Given the description of an element on the screen output the (x, y) to click on. 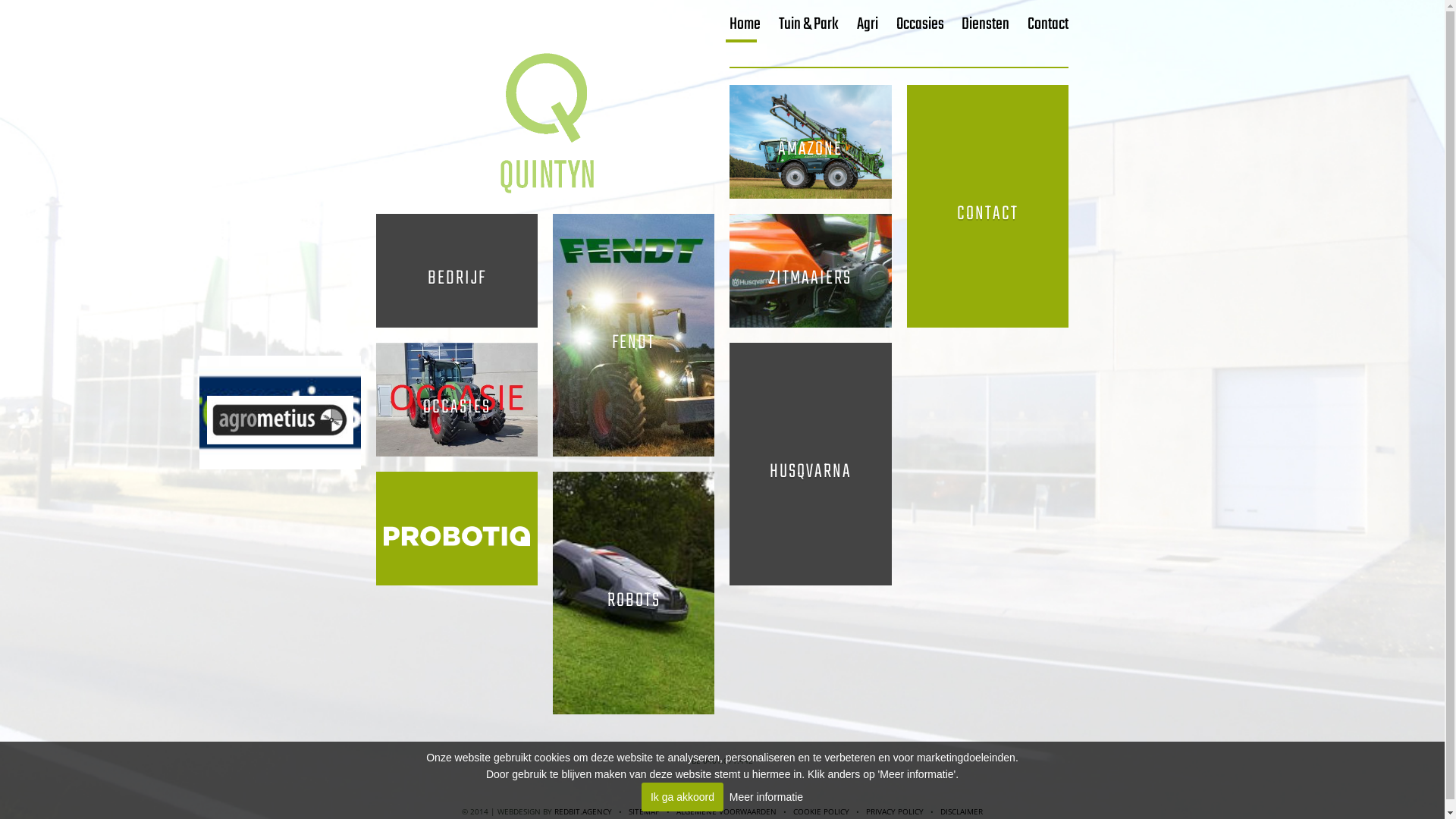
COOKIE POLICY Element type: text (821, 811)
AMAZONE Element type: text (810, 148)
CONTACT Element type: text (987, 212)
REDBIT.AGENCY Element type: text (582, 811)
Home Element type: text (744, 24)
Tuin & Park Element type: text (808, 24)
OCCASIES Element type: text (456, 470)
HUSQVARNA Element type: text (810, 567)
Meer informatie Element type: text (766, 796)
Occasies Element type: text (920, 24)
Contact Element type: text (1047, 24)
Ik ga akkoord Element type: text (682, 796)
ALGEMENE VOORWAARDEN Element type: text (726, 811)
ZITMAAIERS Element type: text (810, 341)
PRIVACY POLICY Element type: text (894, 811)
Diensten Element type: text (985, 24)
BEDRIJF Element type: text (456, 276)
Agri Element type: text (867, 24)
DISCLAIMER Element type: text (961, 811)
FENDT Element type: text (633, 341)
SITEMAP Element type: text (643, 811)
